Given the description of an element on the screen output the (x, y) to click on. 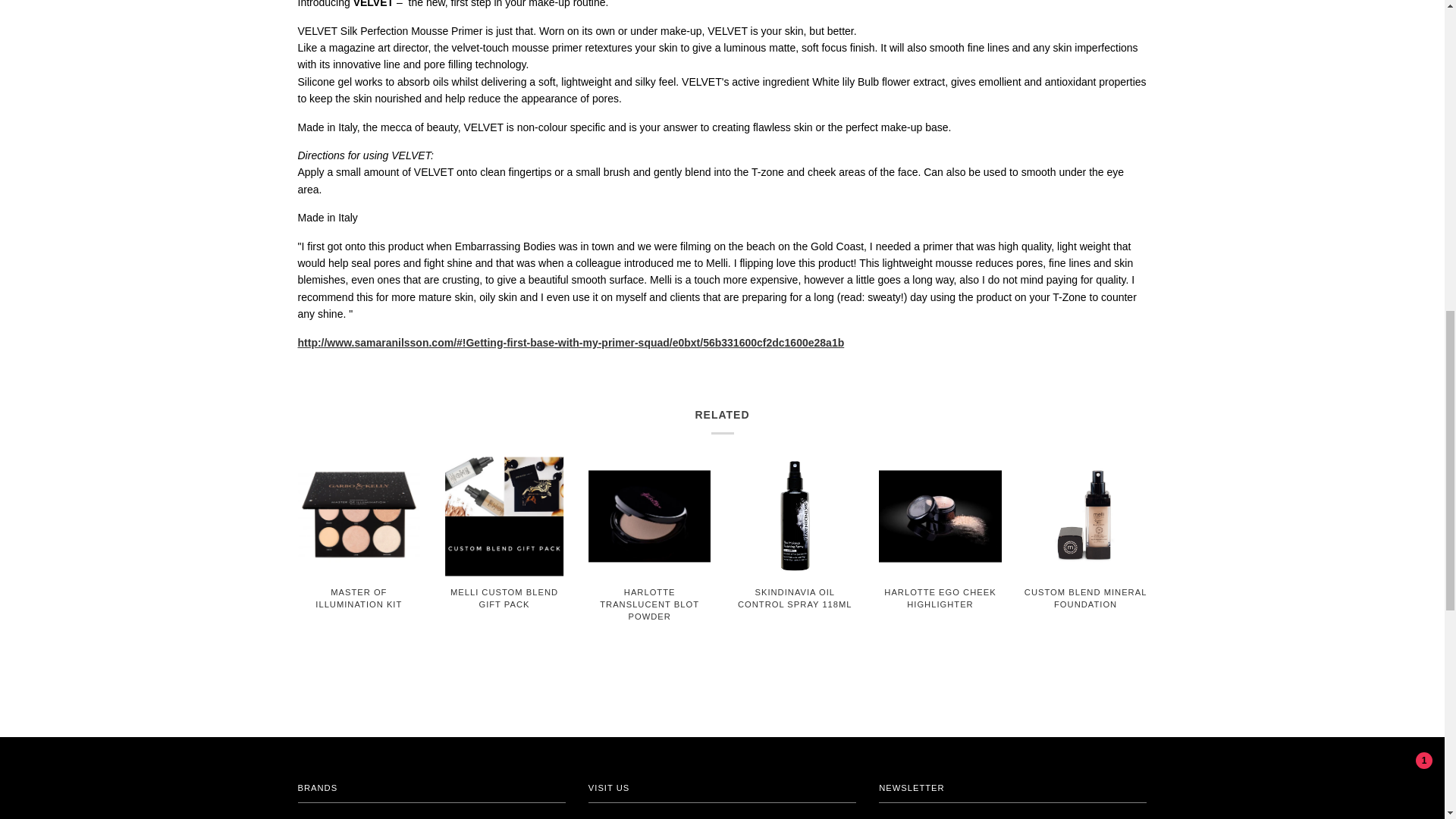
my primer squad (570, 342)
